Given the description of an element on the screen output the (x, y) to click on. 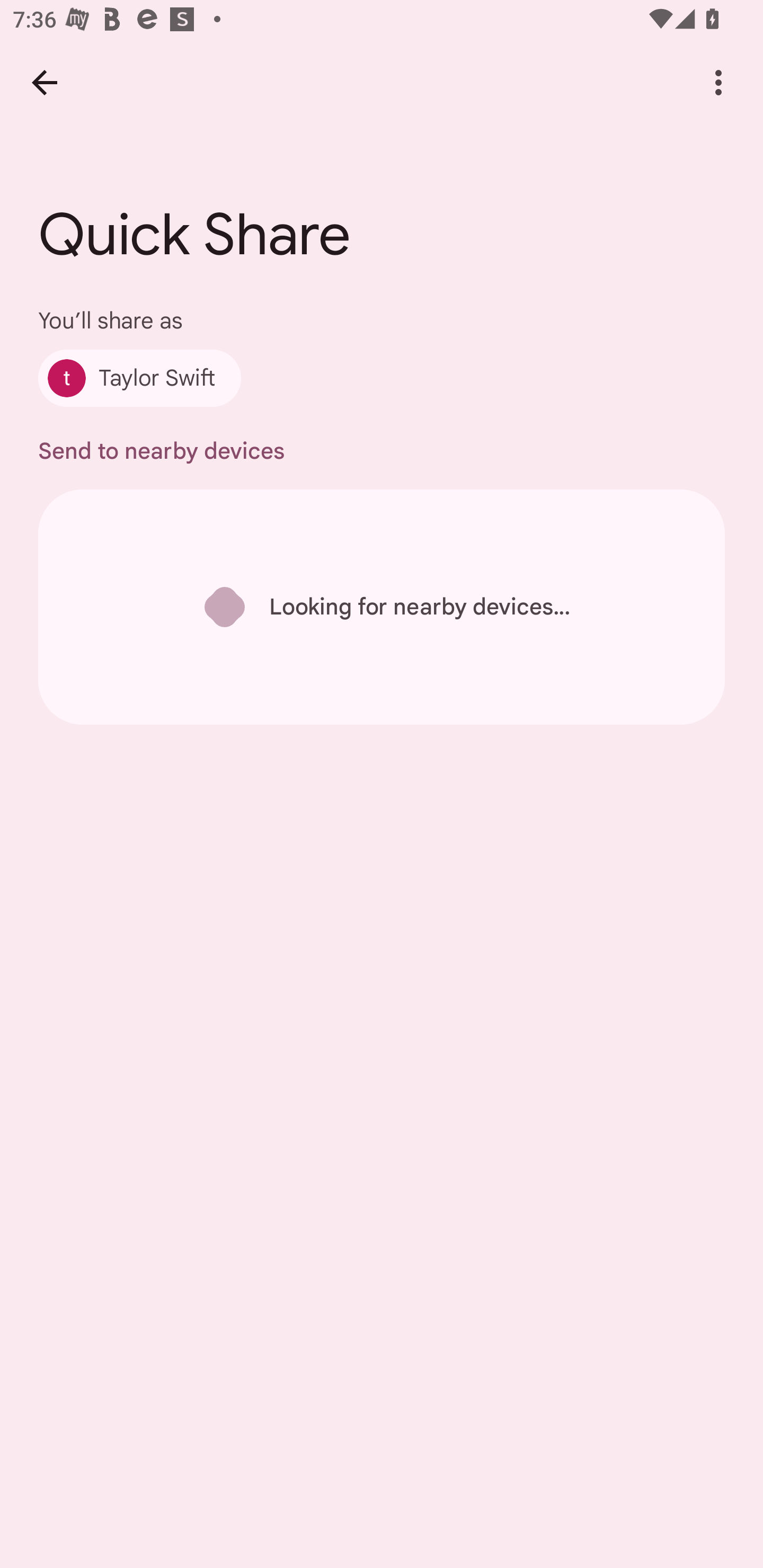
Back (44, 81)
More (718, 81)
Taylor Swift (139, 378)
